Given the description of an element on the screen output the (x, y) to click on. 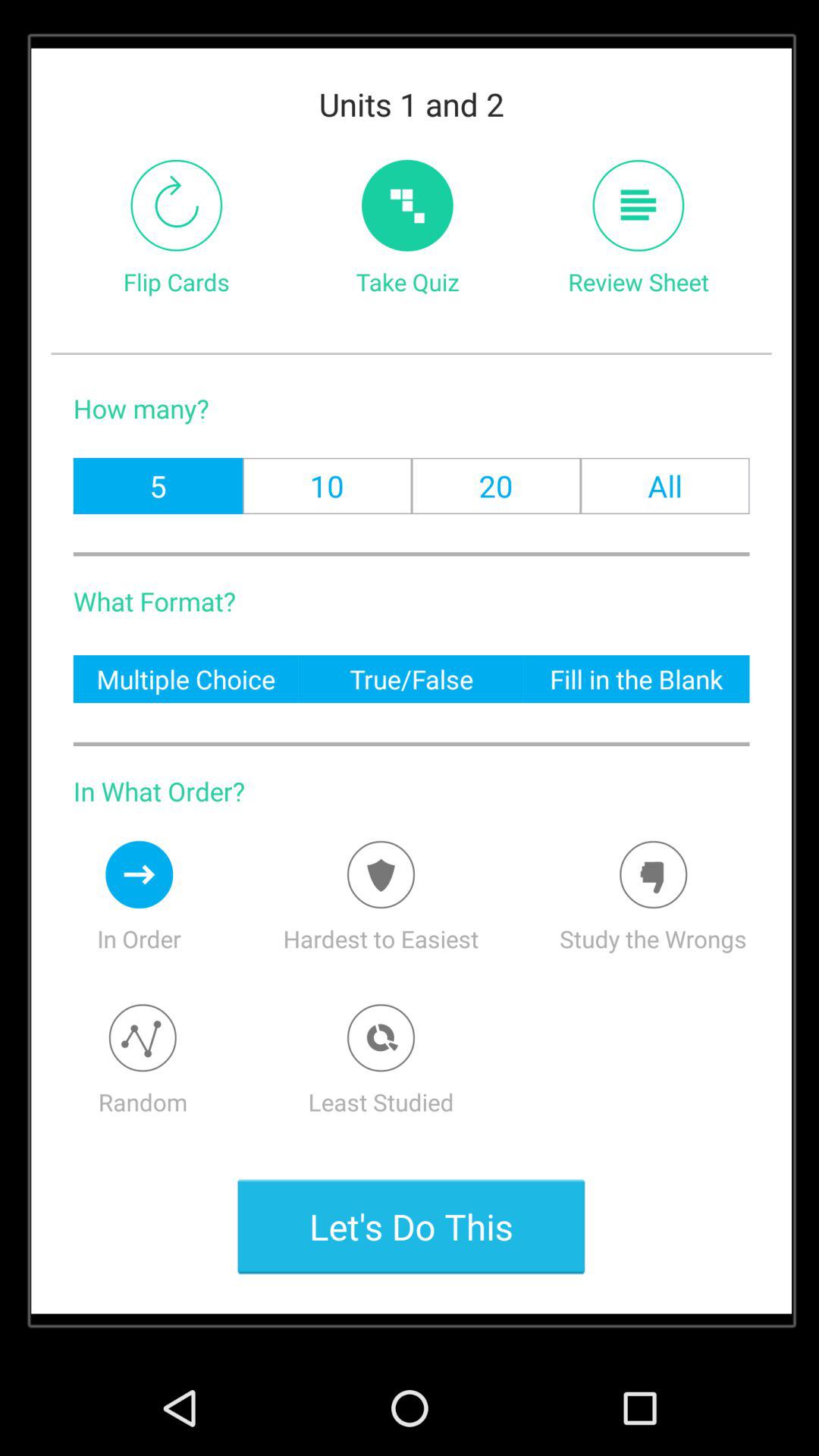
hardest to easiest questions (380, 874)
